Given the description of an element on the screen output the (x, y) to click on. 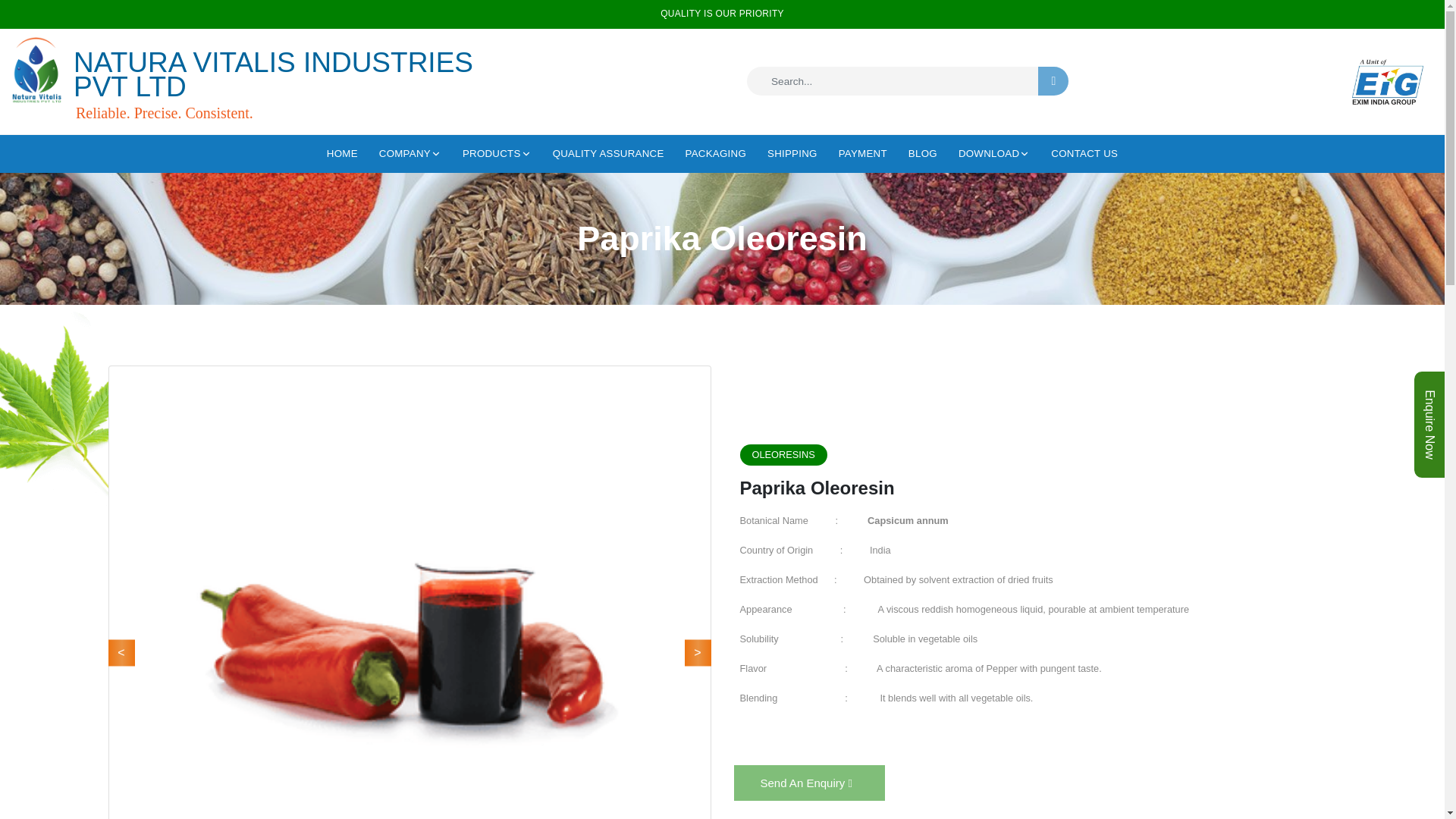
PACKAGING (715, 153)
COMPANY (409, 153)
PRODUCTS (497, 153)
BLOG (922, 153)
PAYMENT (862, 153)
QUALITY ASSURANCE (608, 153)
HOME (342, 153)
SHIPPING (791, 153)
DOWNLOAD (993, 153)
Send An Enquiry (809, 782)
CONTACT US (1084, 153)
